Given the description of an element on the screen output the (x, y) to click on. 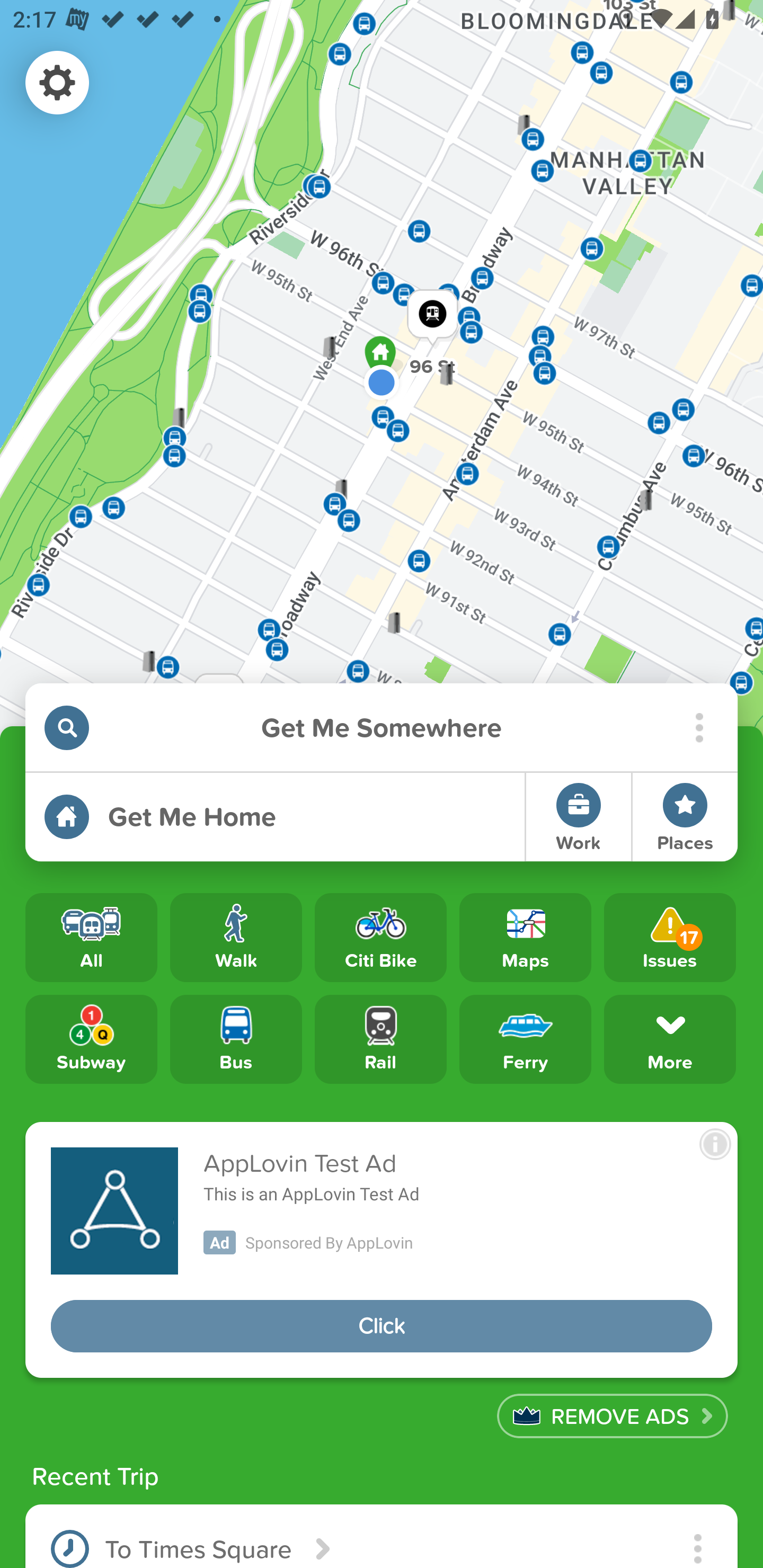
Work (578, 816)
